Given the description of an element on the screen output the (x, y) to click on. 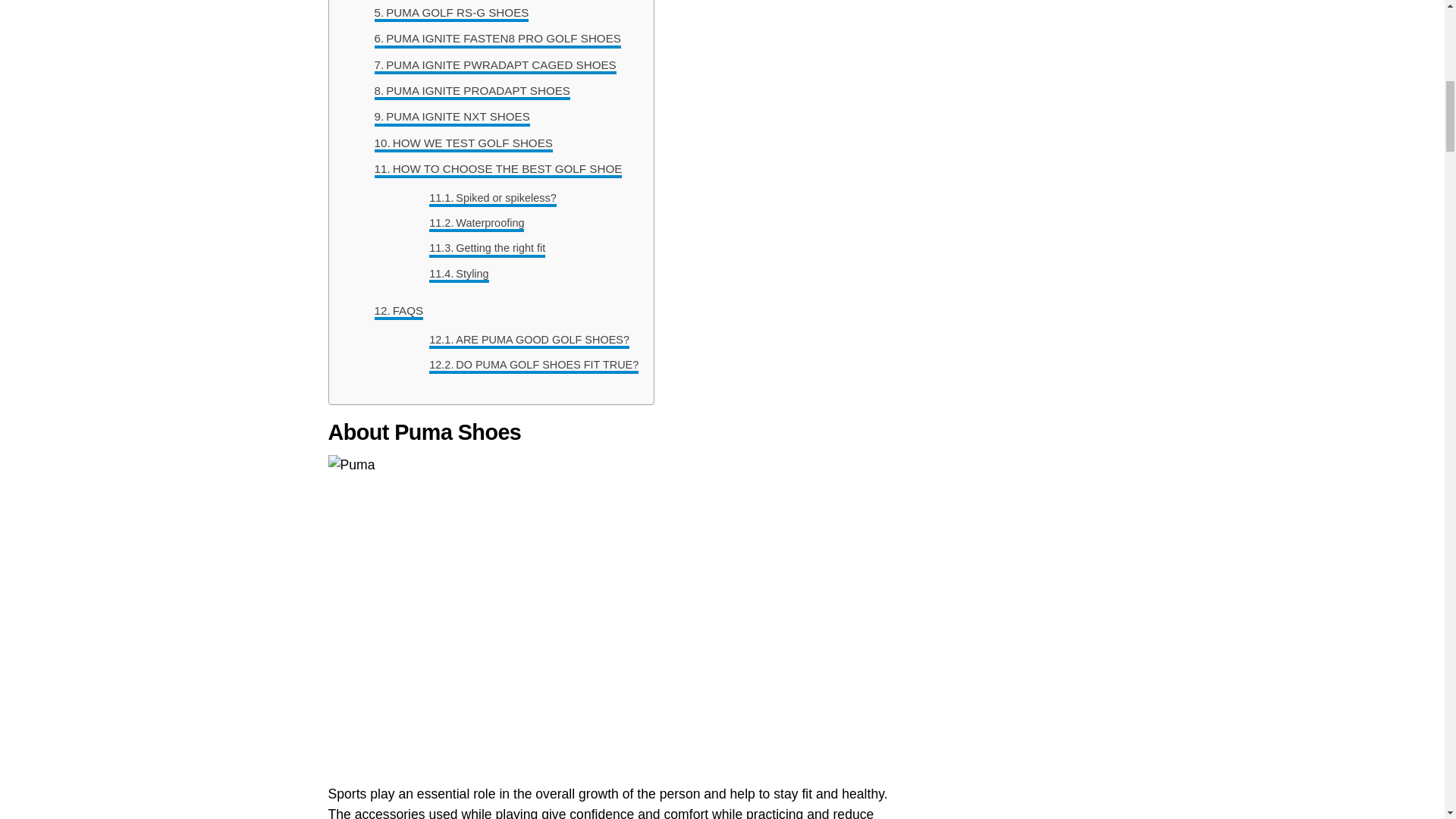
PUMA IGNITE PROADAPT SHOES (472, 90)
Getting the right fit (486, 248)
PUMA IGNITE NXT SHOES (451, 116)
Waterproofing (476, 222)
PUMA IGNITE PWRADAPT CAGED SHOES (494, 65)
Spiked or spikeless? (492, 198)
PUMA GOLF RS-G SHOES (451, 13)
Styling (458, 273)
PUMA IGNITE FASTEN8 PRO GOLF SHOES (497, 38)
Styling (458, 273)
